Given the description of an element on the screen output the (x, y) to click on. 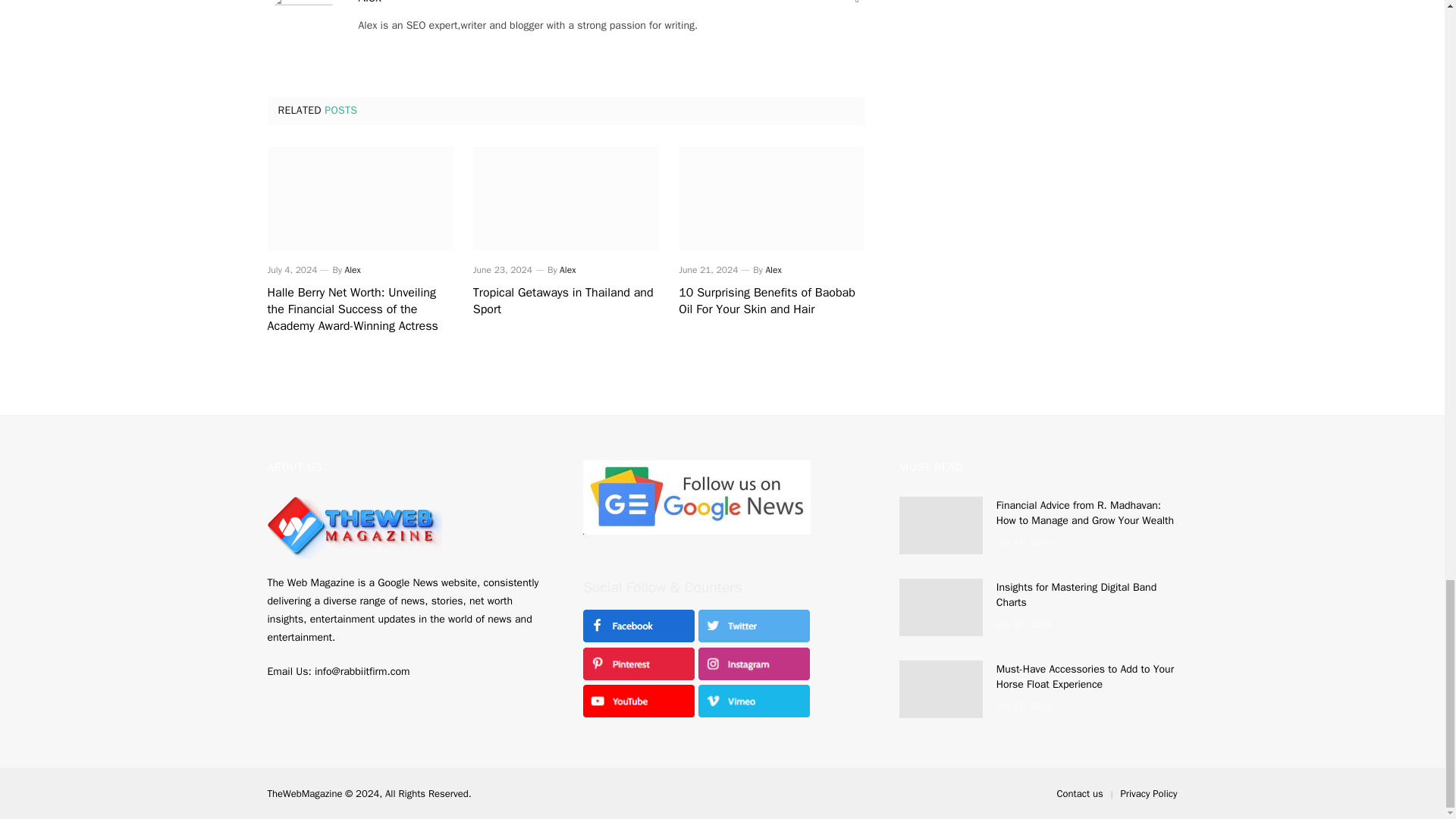
Website (856, 3)
Alex (567, 269)
Tropical Getaways in Thailand and Sport (566, 301)
Alex (353, 269)
Posts by Alex (353, 269)
Tropical Getaways in Thailand and Sport (566, 198)
10 Surprising Benefits of Baobab Oil For Your Skin and Hair (771, 301)
Posts by Alex (567, 269)
Website (856, 3)
Alex (772, 269)
Alex (369, 2)
Posts by Alex (369, 2)
